Given the description of an element on the screen output the (x, y) to click on. 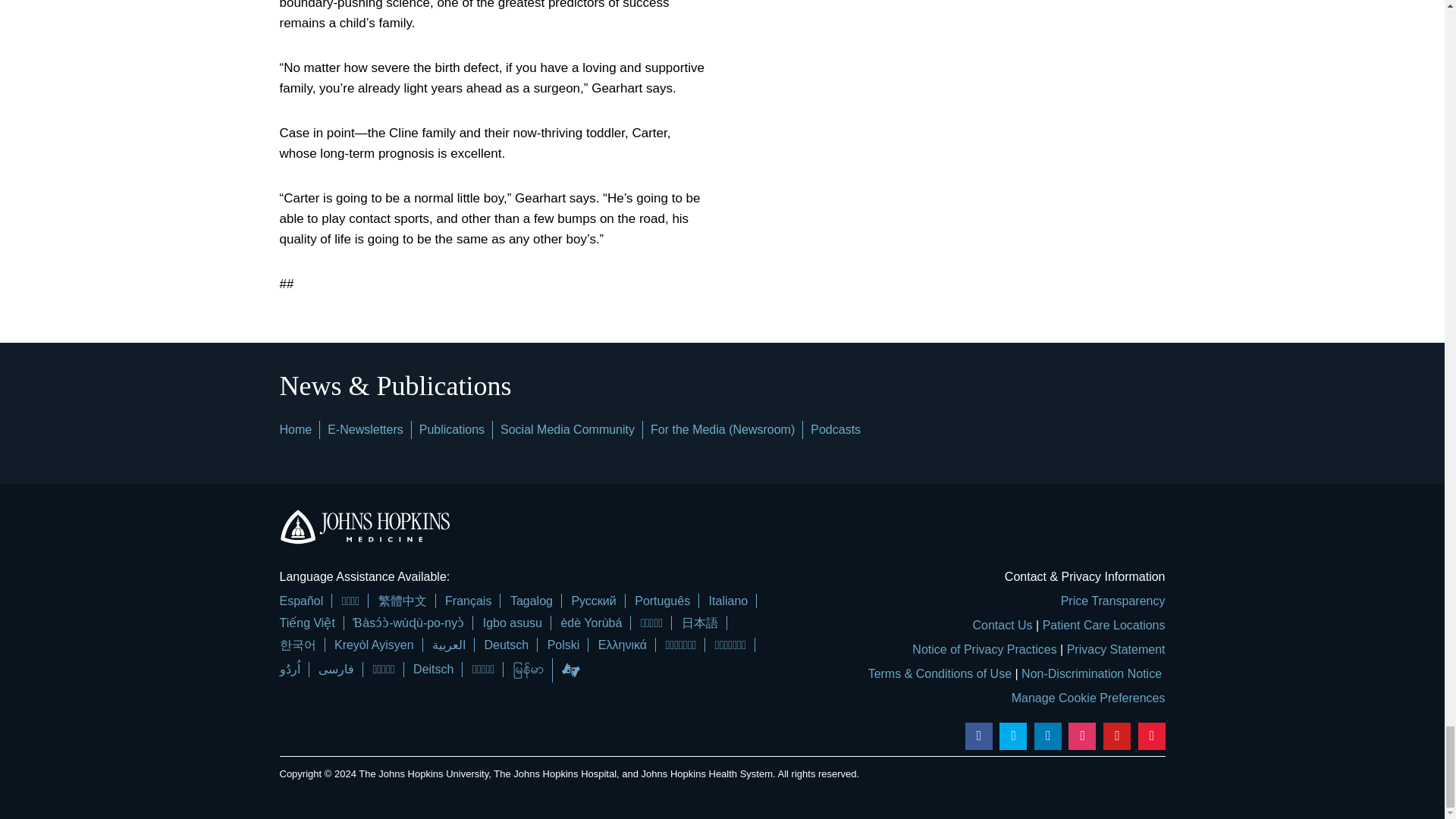
Social Media Community (567, 429)
Home (295, 429)
E-Newsletters (365, 429)
Publications (451, 429)
